Given the description of an element on the screen output the (x, y) to click on. 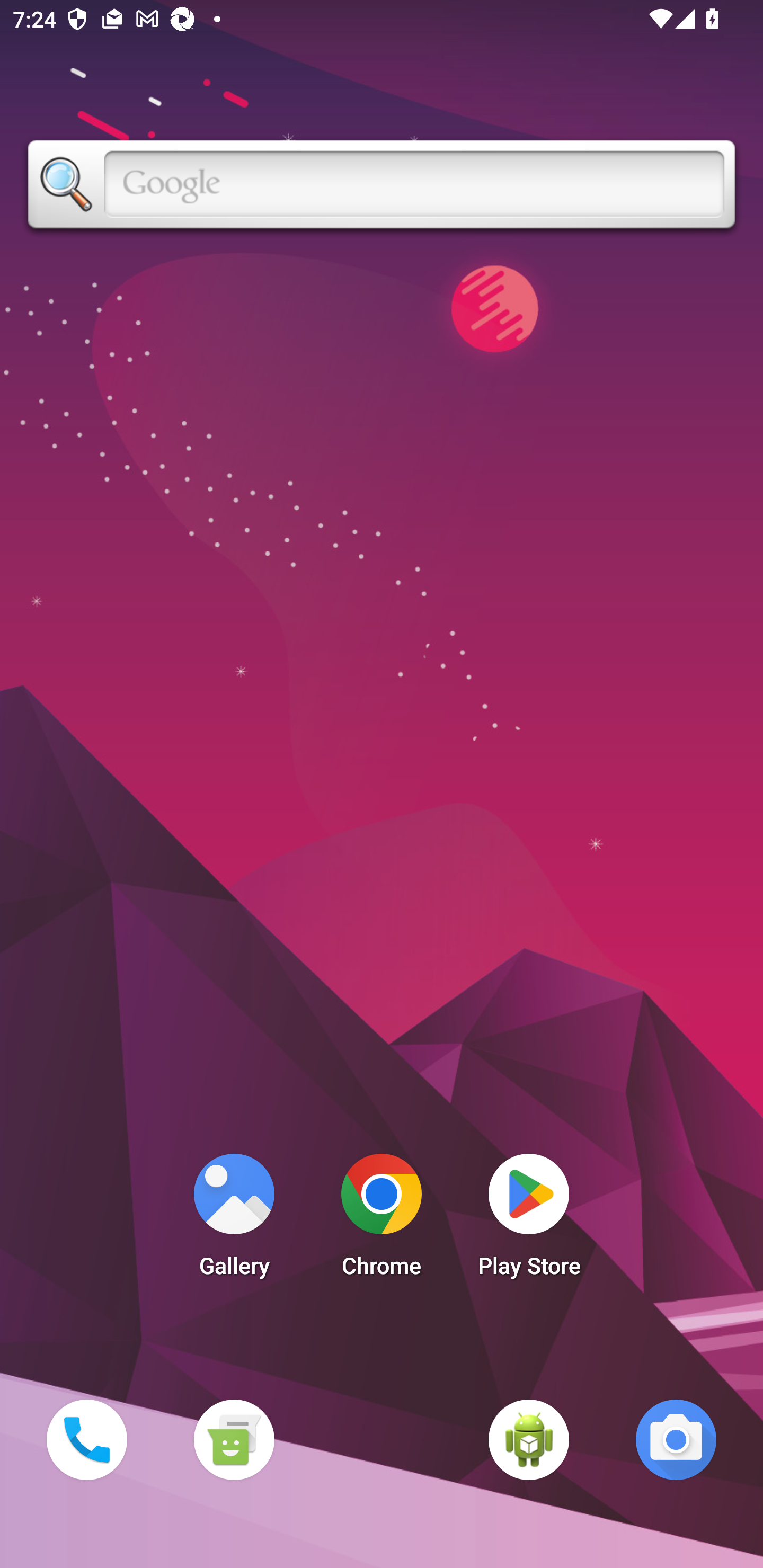
Gallery (233, 1220)
Chrome (381, 1220)
Play Store (528, 1220)
Phone (86, 1439)
Messaging (233, 1439)
WebView Browser Tester (528, 1439)
Camera (676, 1439)
